Given the description of an element on the screen output the (x, y) to click on. 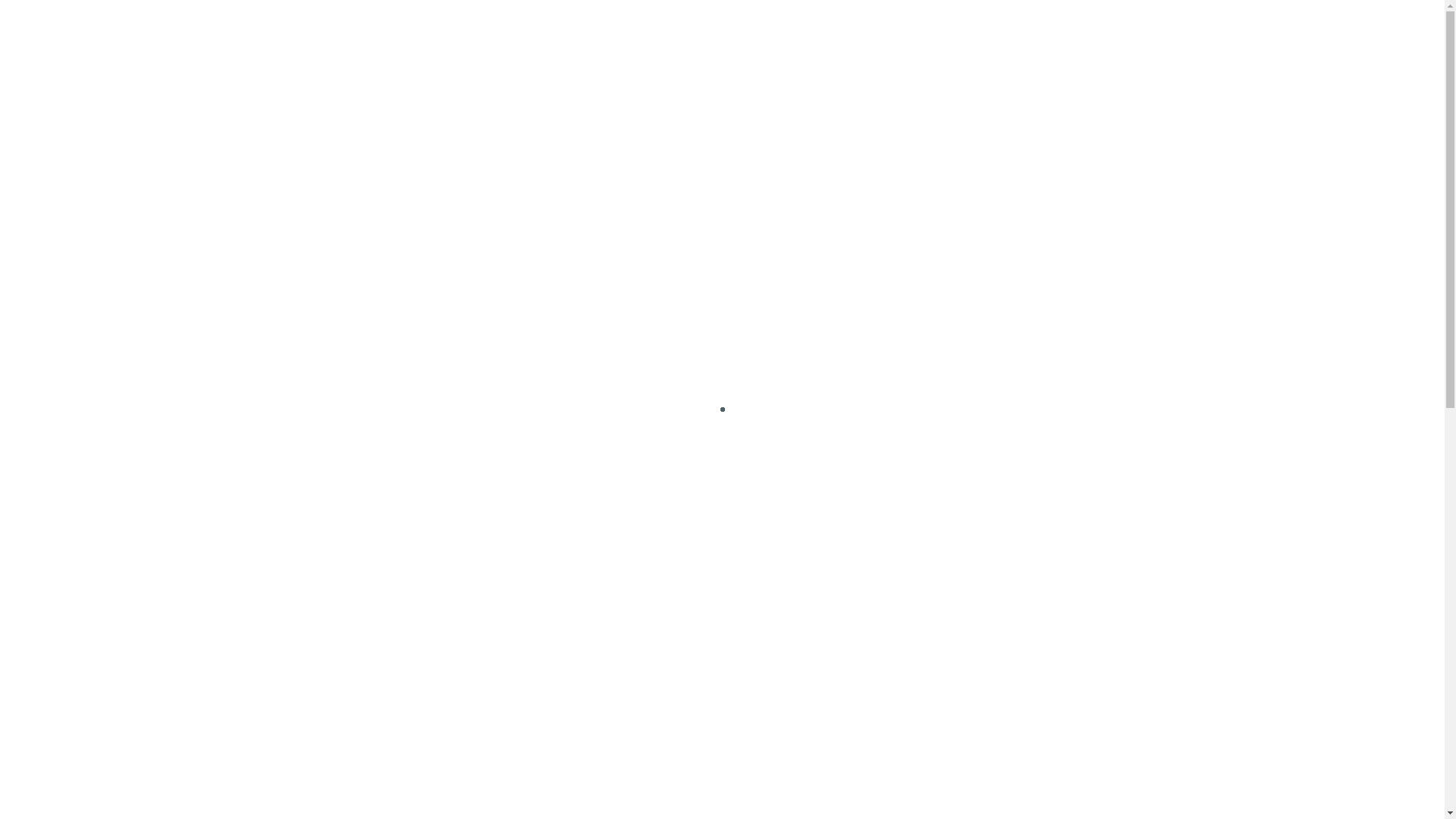
Slatki program Element type: text (1000, 715)
Pekarska oprema Element type: text (1007, 529)
Email Element type: text (1002, 338)
Istaknuto Element type: text (985, 455)
Partneri Element type: text (989, 41)
Ugostiteljska oprema Element type: text (1018, 604)
O nama Element type: text (850, 41)
Slani program Element type: text (997, 678)
Osnovne sirovine Element type: text (1005, 752)
Sitan inventar Element type: text (997, 789)
SENNA Amarena+marille+himbeer Element type: text (404, 326)
Facebook Element type: text (959, 338)
SENNA Apfelspalten Element type: text (613, 318)
Proizvodi Element type: text (778, 41)
SENNA Aroma Element type: text (822, 406)
Oprema Element type: text (981, 492)
Novosti Element type: text (1058, 41)
Twitter Element type: text (980, 338)
Kontakt Element type: text (921, 41)
Sirovine Element type: text (980, 641)
